Given the description of an element on the screen output the (x, y) to click on. 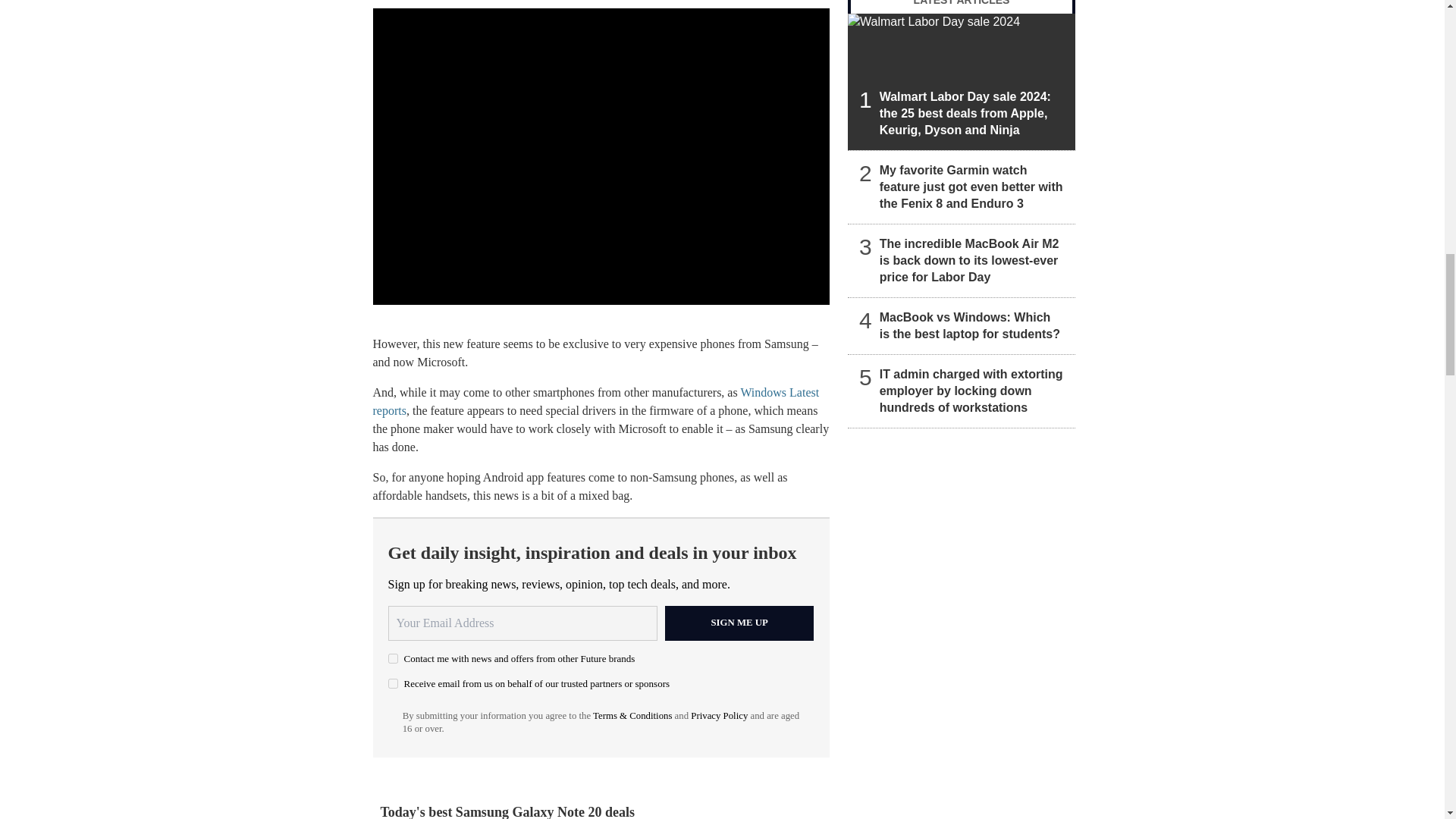
Sign me up (739, 623)
on (392, 683)
on (392, 658)
